Given the description of an element on the screen output the (x, y) to click on. 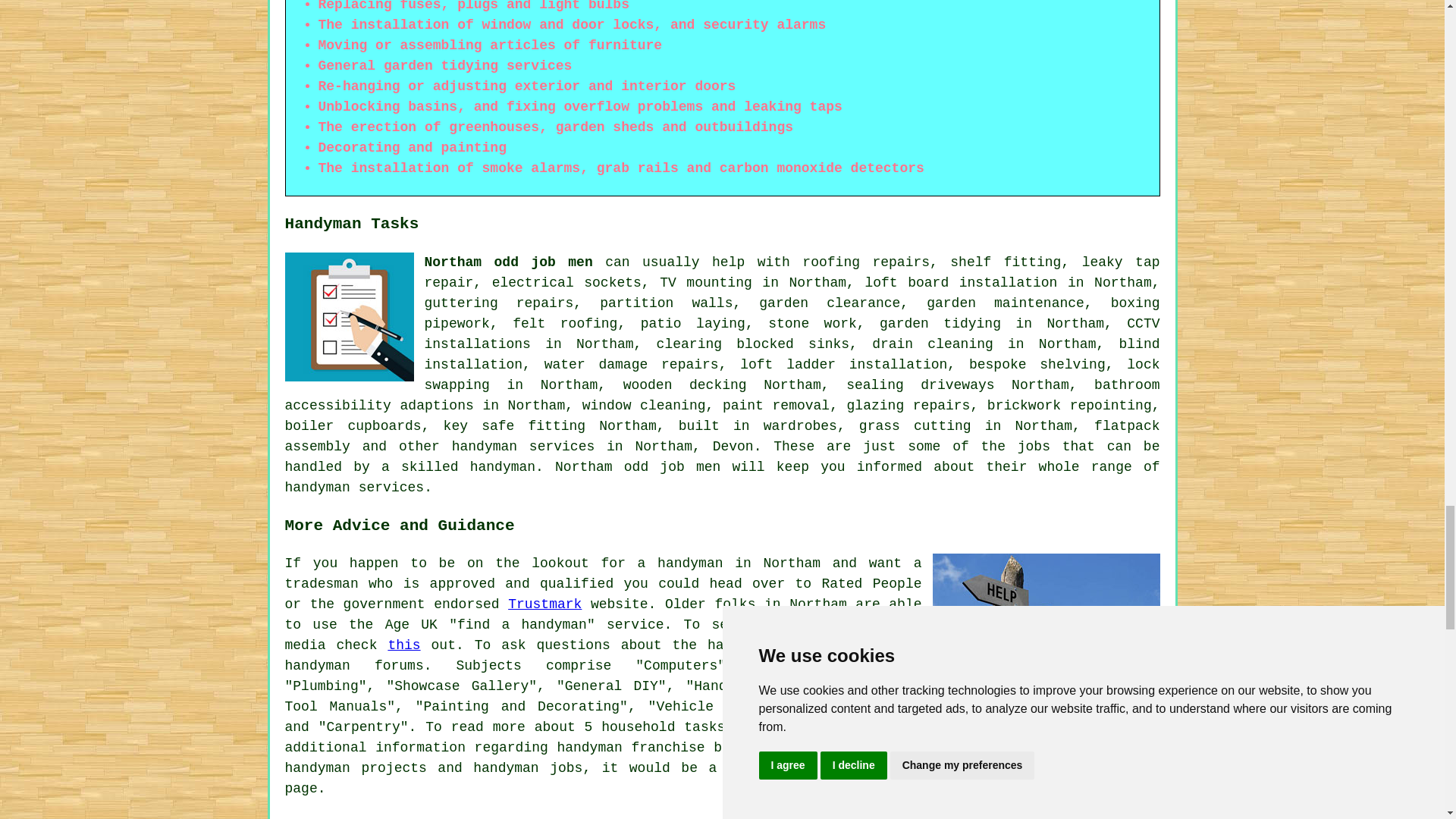
handyman services (523, 446)
bathroom accessibility adaptions (722, 395)
Handyman Advice Northam (1046, 627)
Handyman Tasks Northam (349, 316)
